Given the description of an element on the screen output the (x, y) to click on. 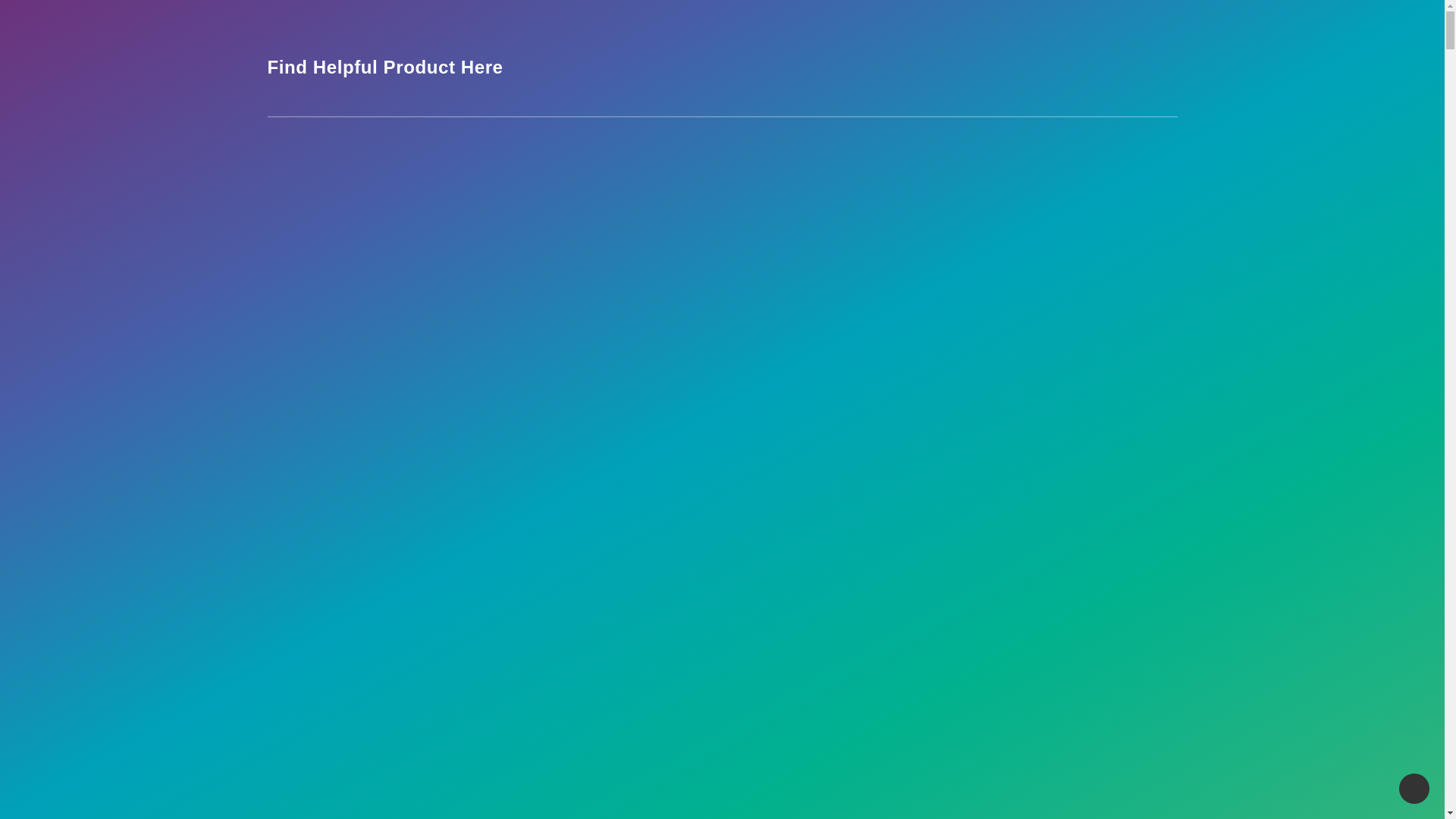
Find Helpful Product Here (384, 67)
